Given the description of an element on the screen output the (x, y) to click on. 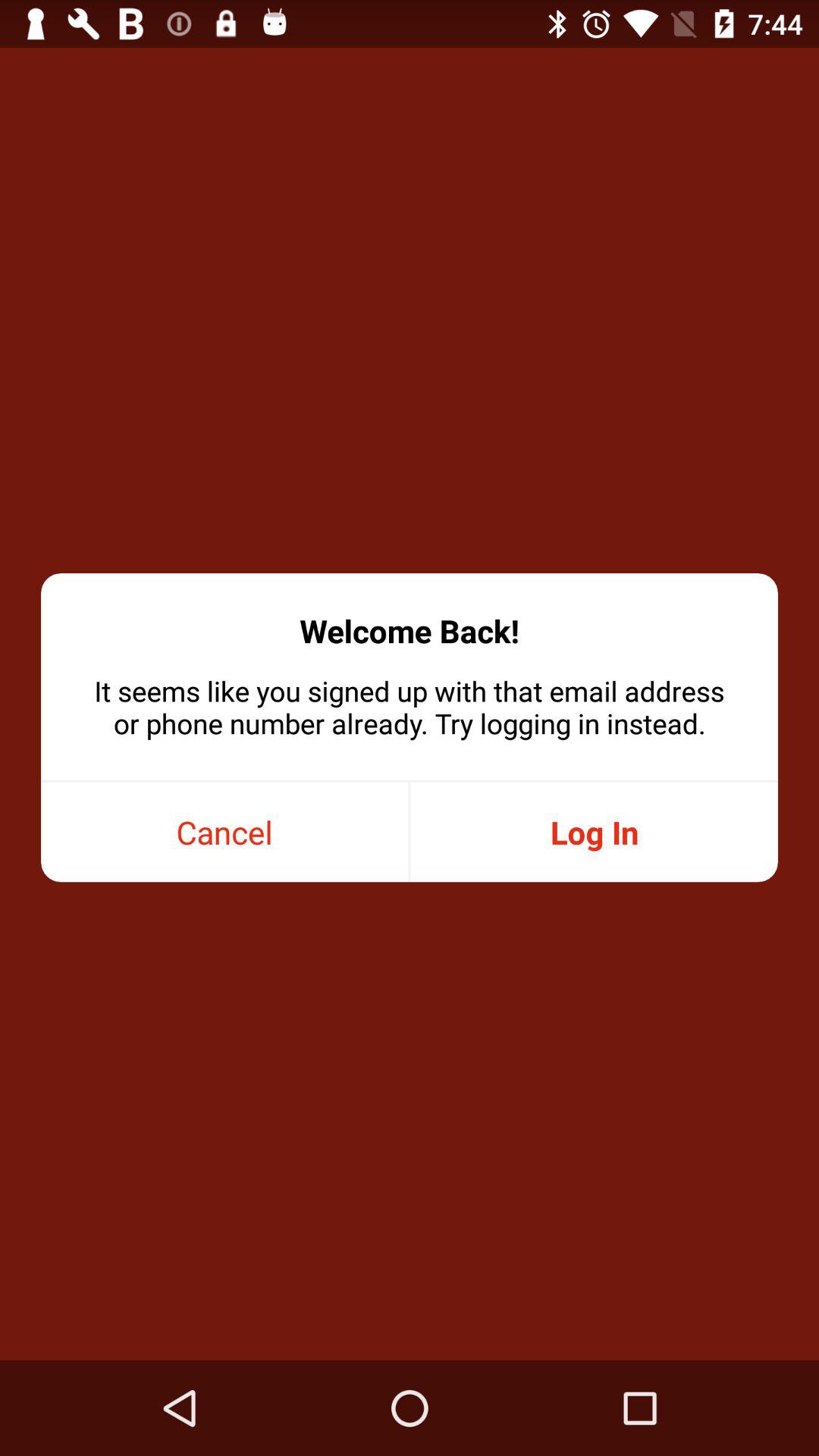
select the cancel item (224, 832)
